Given the description of an element on the screen output the (x, y) to click on. 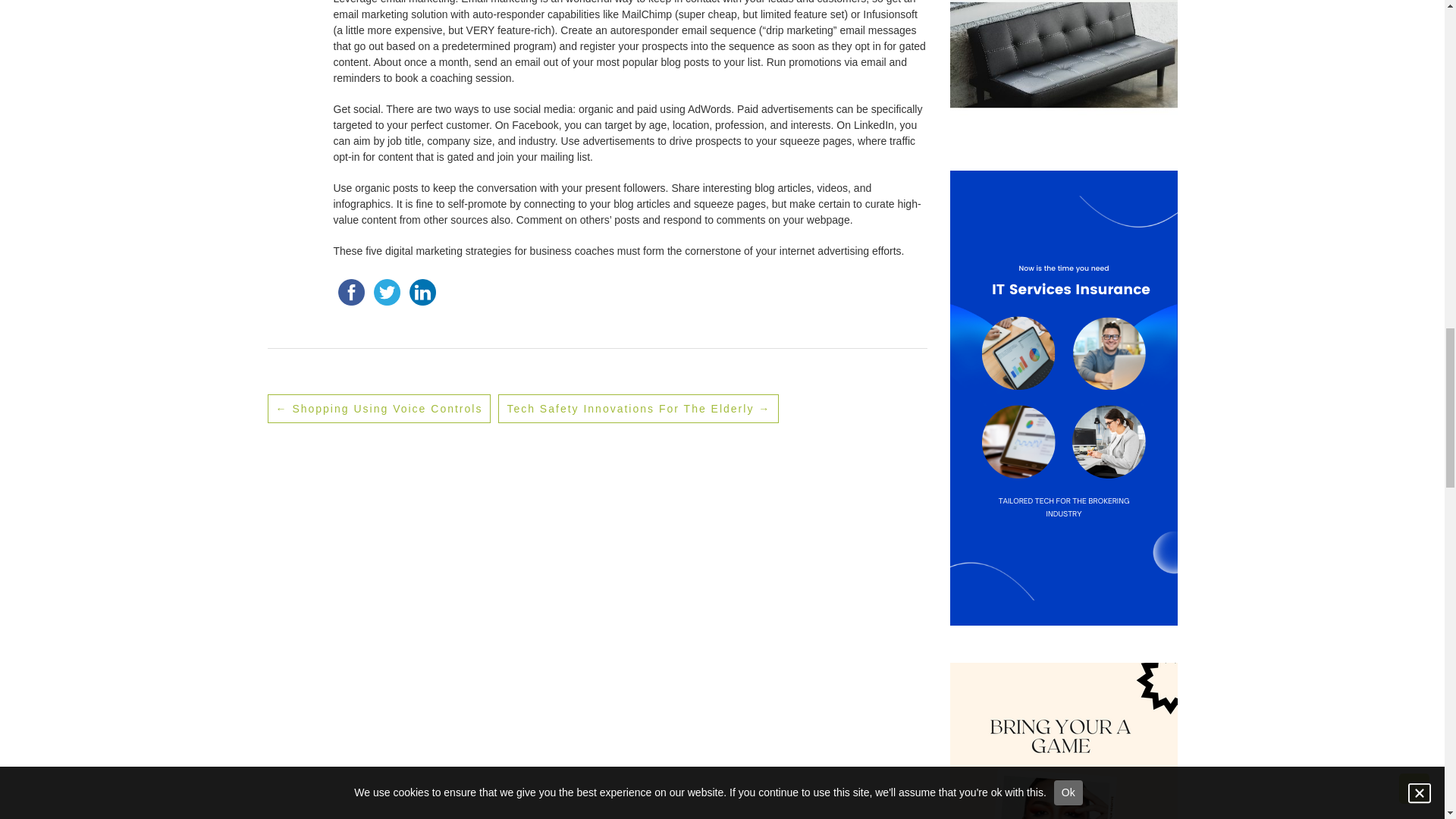
Twitter (386, 292)
LinkedIn (422, 292)
Facebook (351, 292)
